Given the description of an element on the screen output the (x, y) to click on. 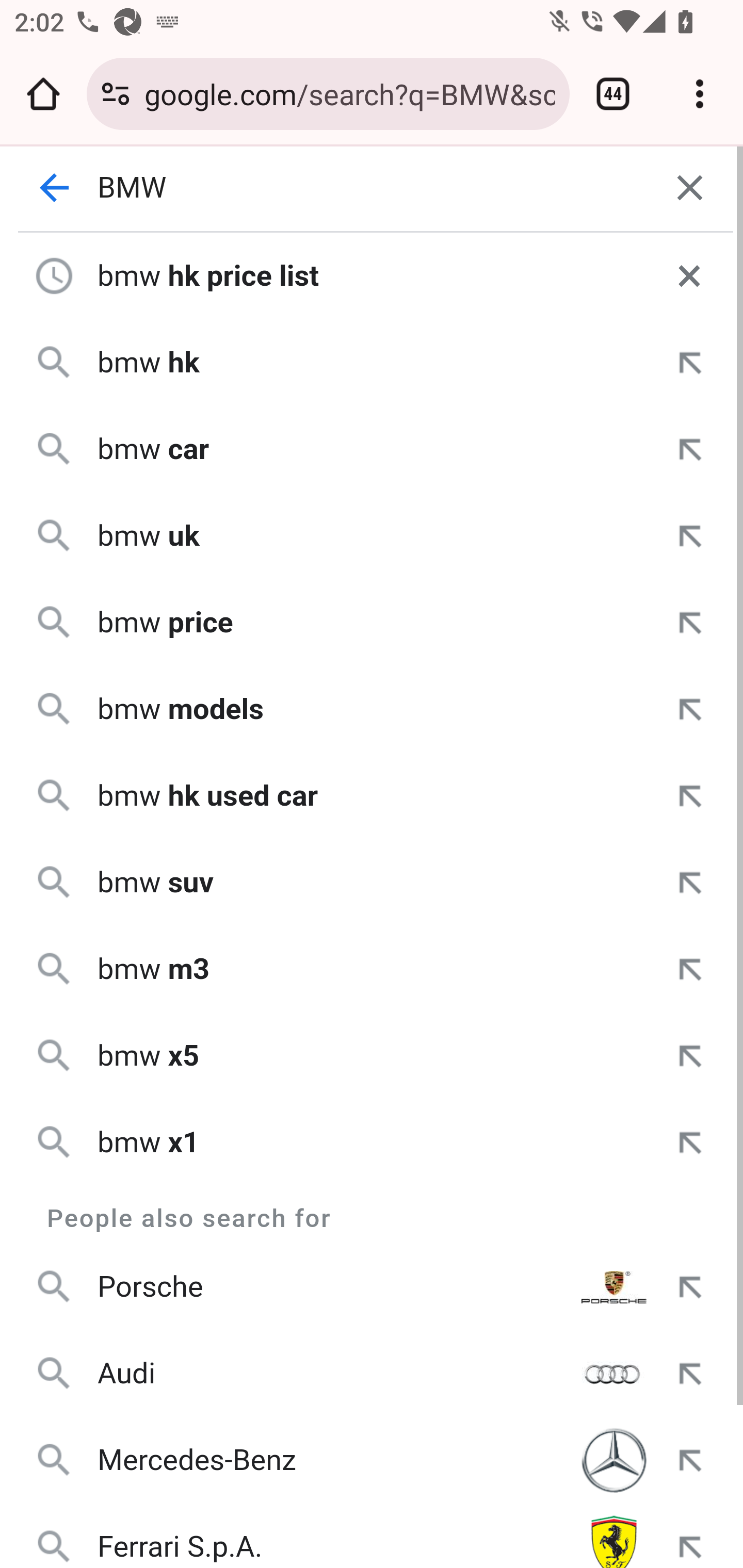
Open the home page (43, 93)
Connection is secure (115, 93)
Switch or close tabs (612, 93)
Customize and control Google Chrome (699, 93)
Back (54, 188)
Clear Search (690, 188)
BMW (372, 188)
Delete (689, 274)
